Given the description of an element on the screen output the (x, y) to click on. 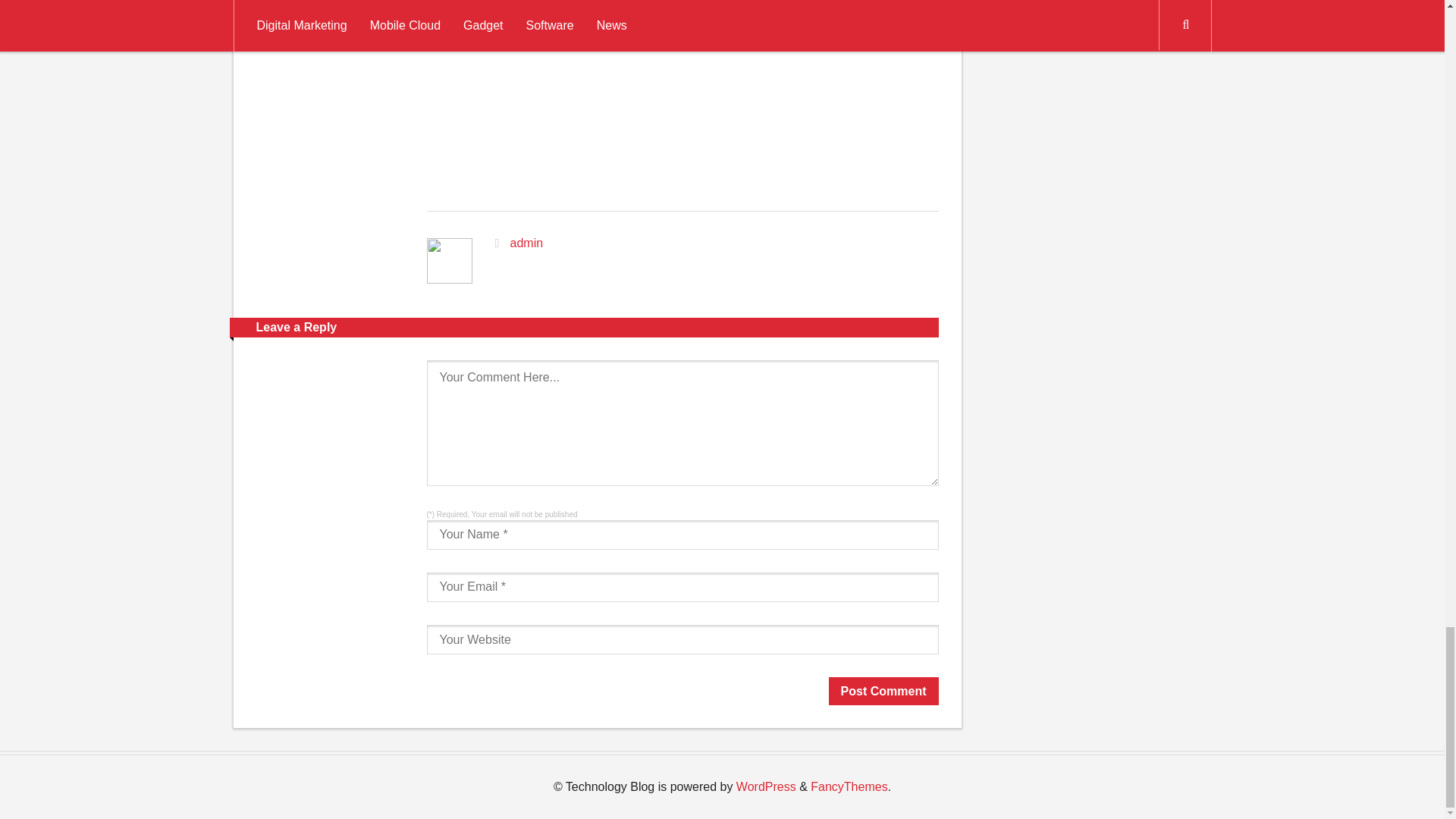
Posts by admin (526, 242)
Post Comment (883, 691)
admin (526, 242)
Post Comment (883, 691)
